Given the description of an element on the screen output the (x, y) to click on. 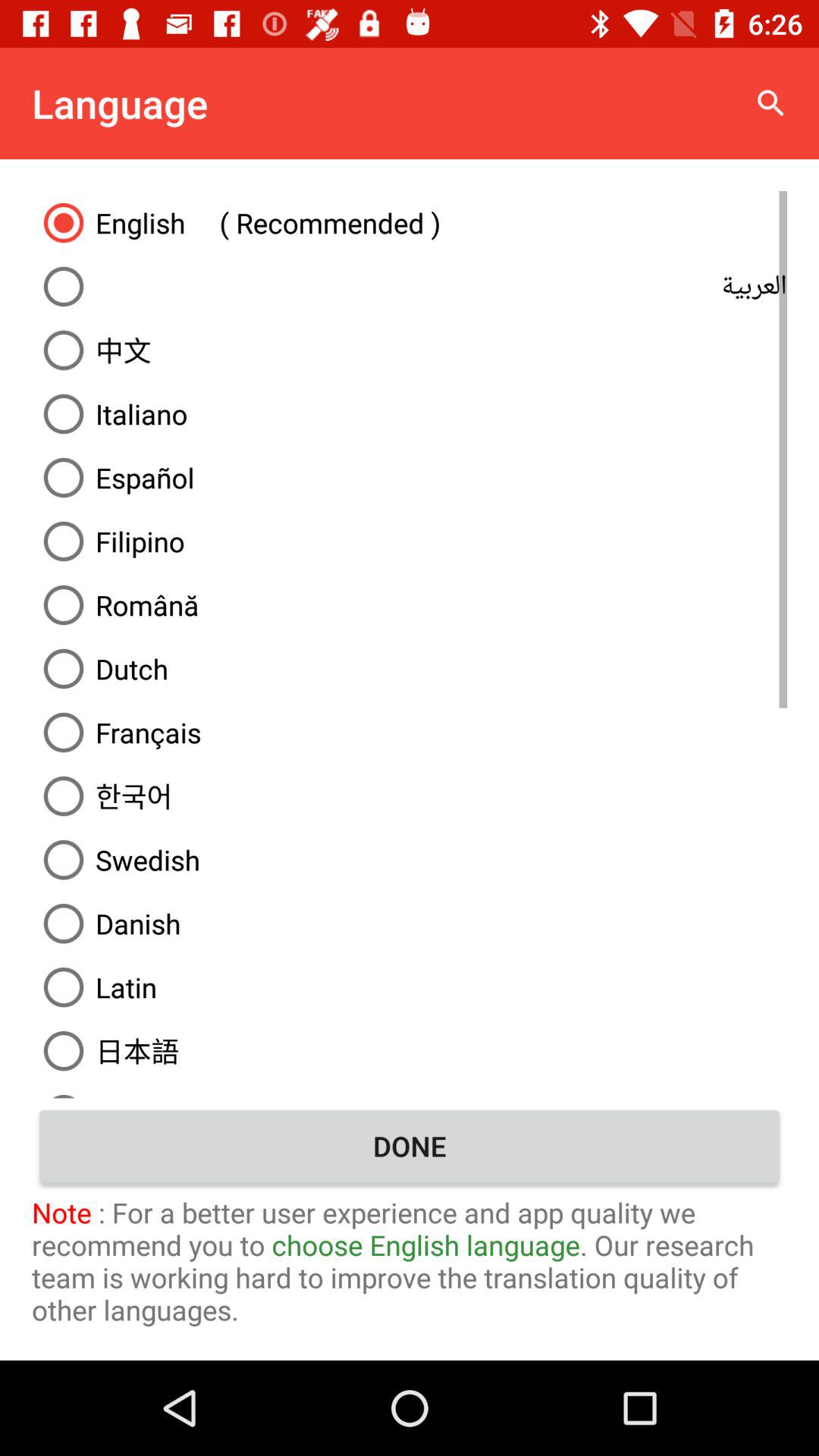
turn off the icon below the danish (409, 987)
